Given the description of an element on the screen output the (x, y) to click on. 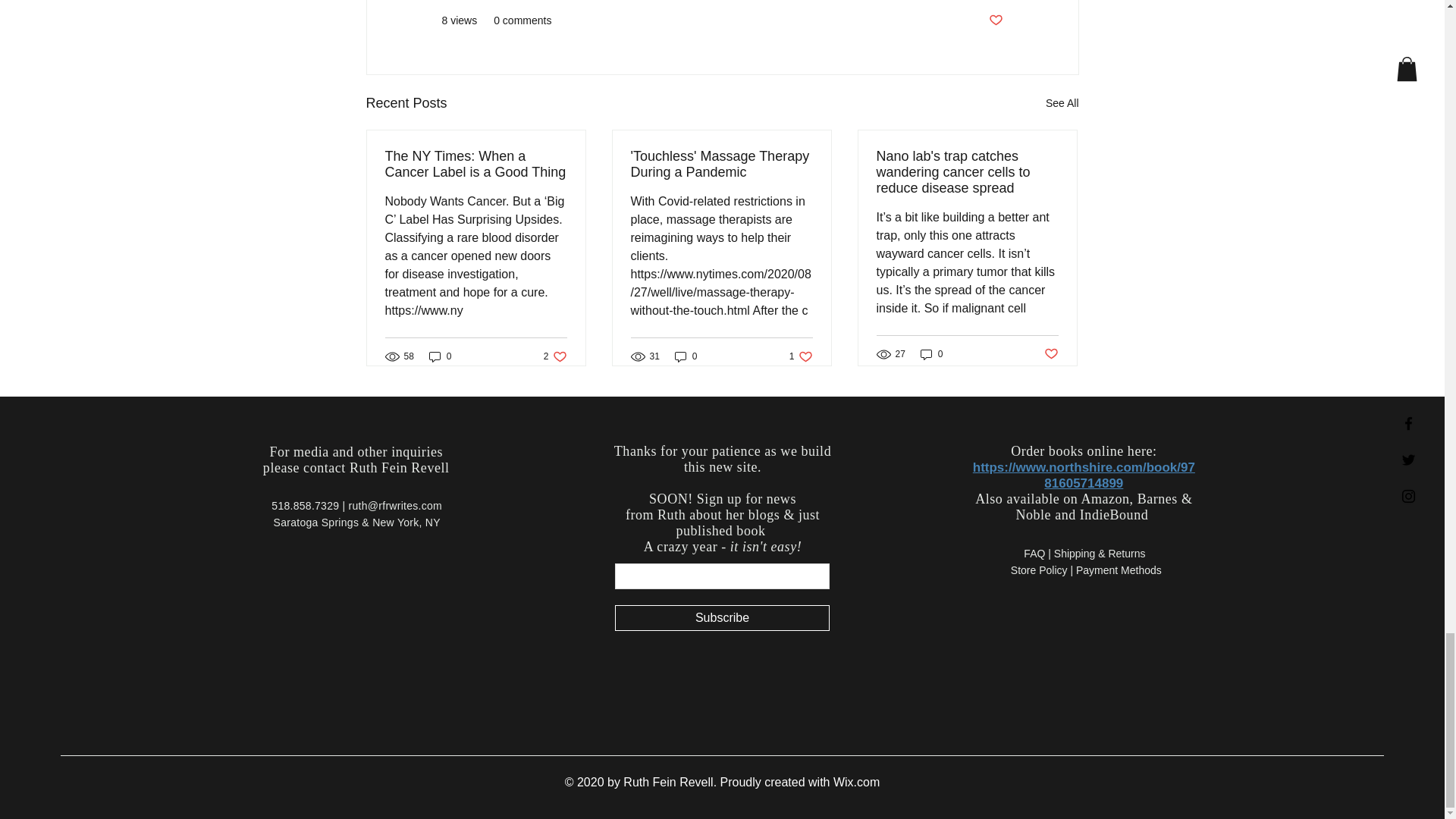
0 (440, 356)
The NY Times: When a Cancer Label is a Good Thing (476, 164)
See All (1061, 103)
Subscribe (721, 617)
0 (685, 356)
'Touchless' Massage Therapy During a Pandemic (721, 164)
0 (931, 353)
